Given the description of an element on the screen output the (x, y) to click on. 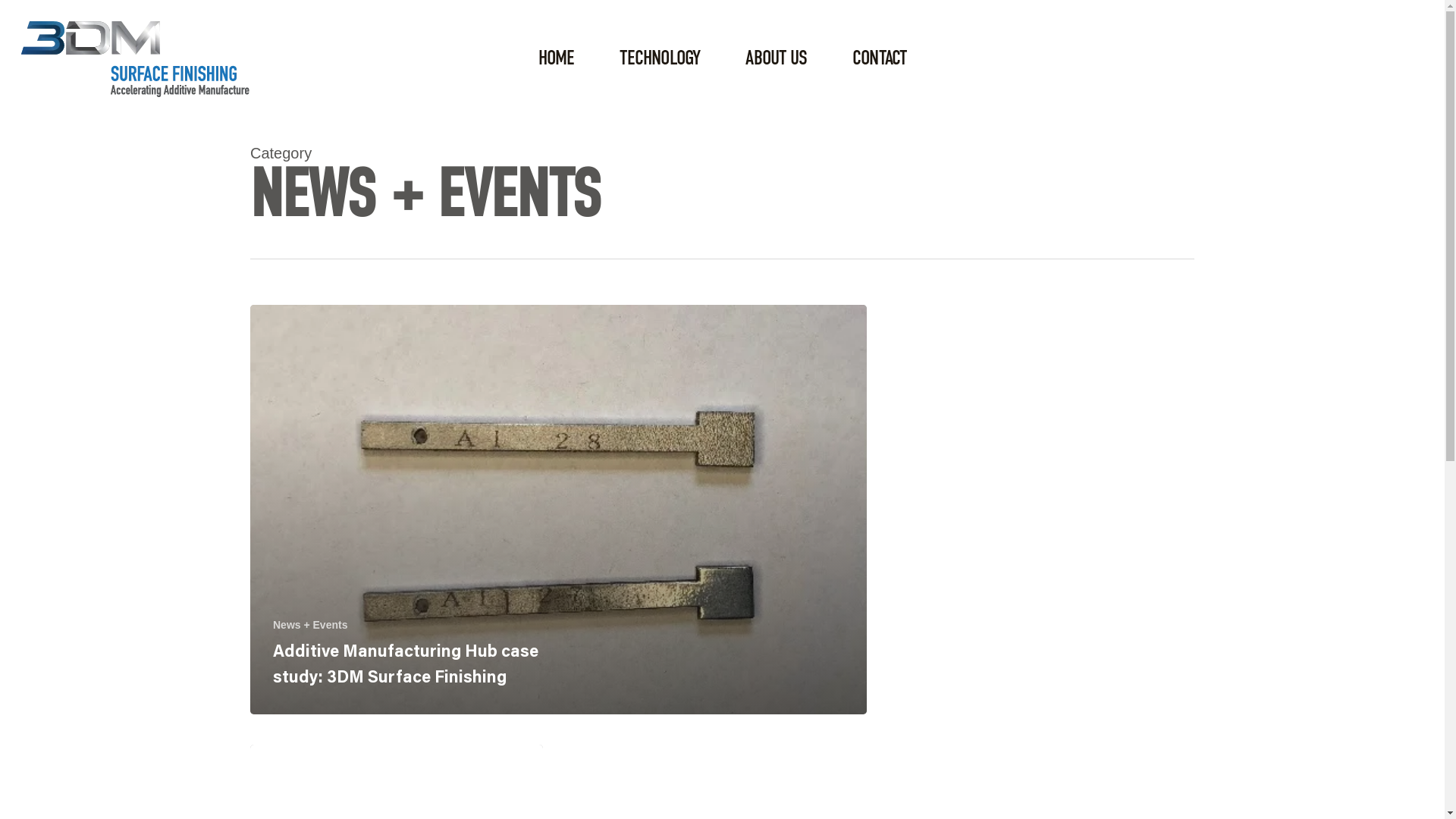
HOME Element type: text (556, 58)
News + Events Element type: text (310, 625)
ABOUT US Element type: text (775, 58)
CONTACT Element type: text (878, 58)
Additive Manufacturing Hub case study: 3DM Surface Finishing Element type: text (405, 665)
TECHNOLOGY Element type: text (659, 58)
